Given the description of an element on the screen output the (x, y) to click on. 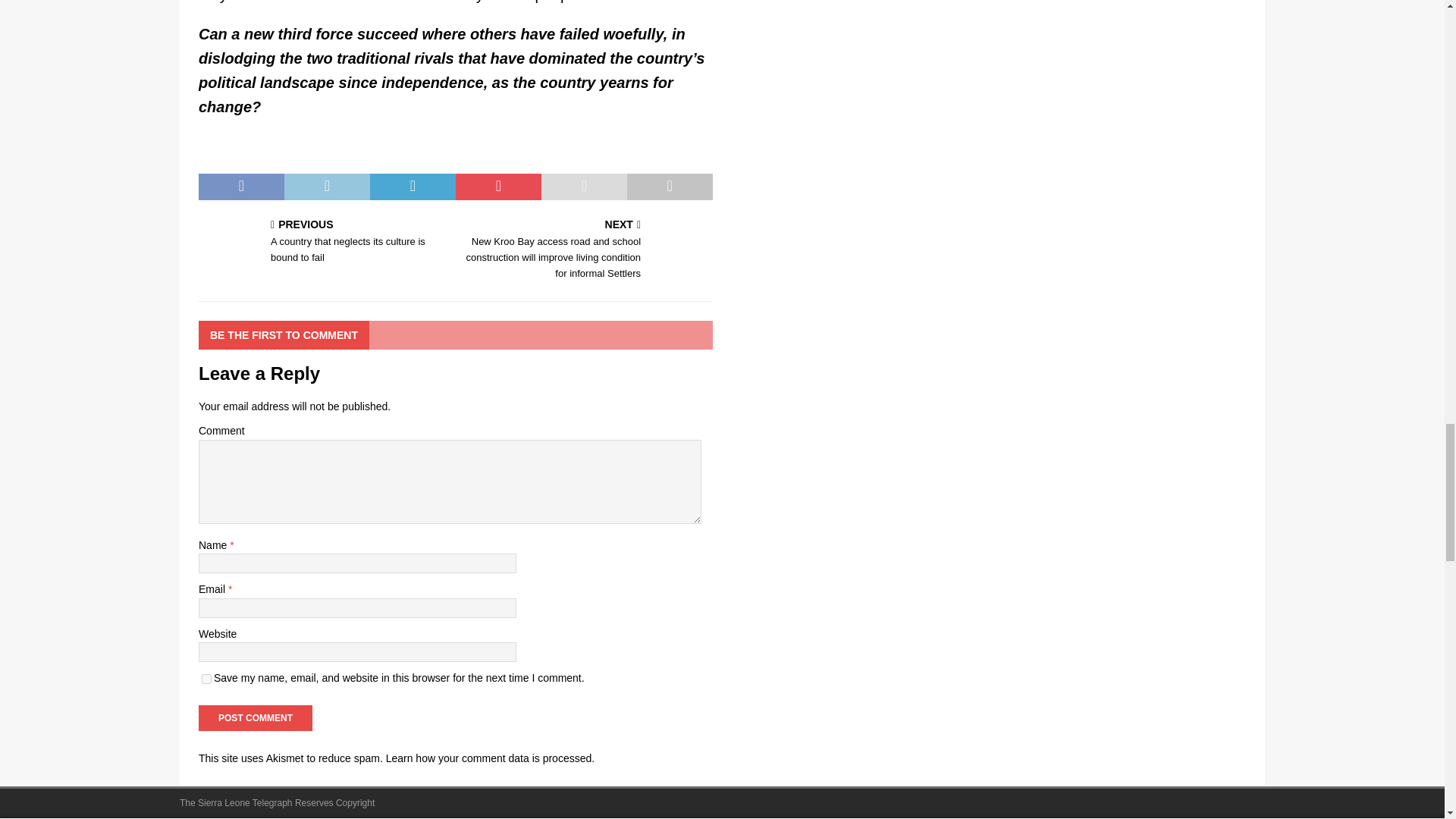
yes (206, 678)
Post Comment (255, 718)
